Given the description of an element on the screen output the (x, y) to click on. 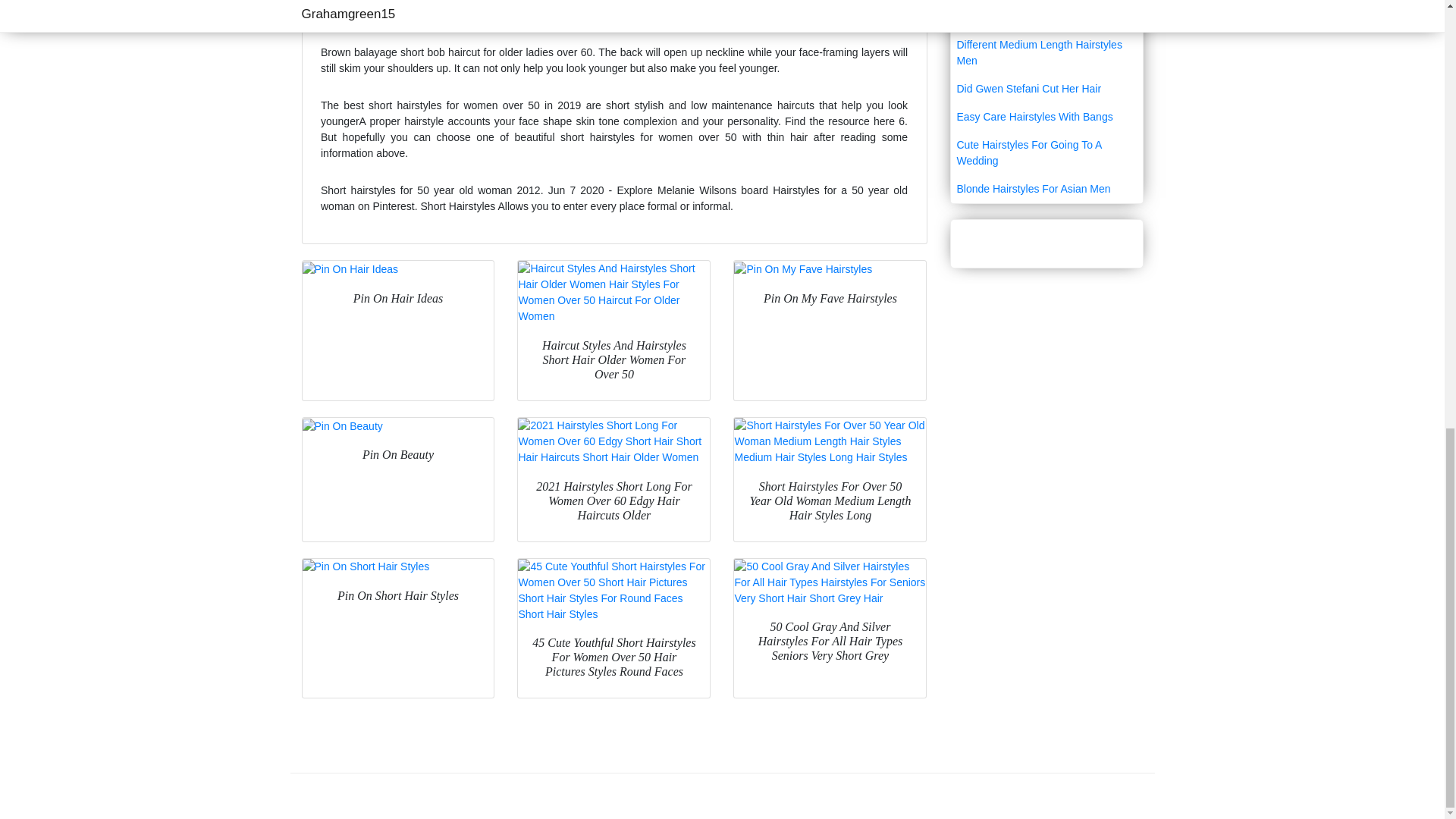
Easy Long Hair Anime Hairstyles (1046, 1)
